Given the description of an element on the screen output the (x, y) to click on. 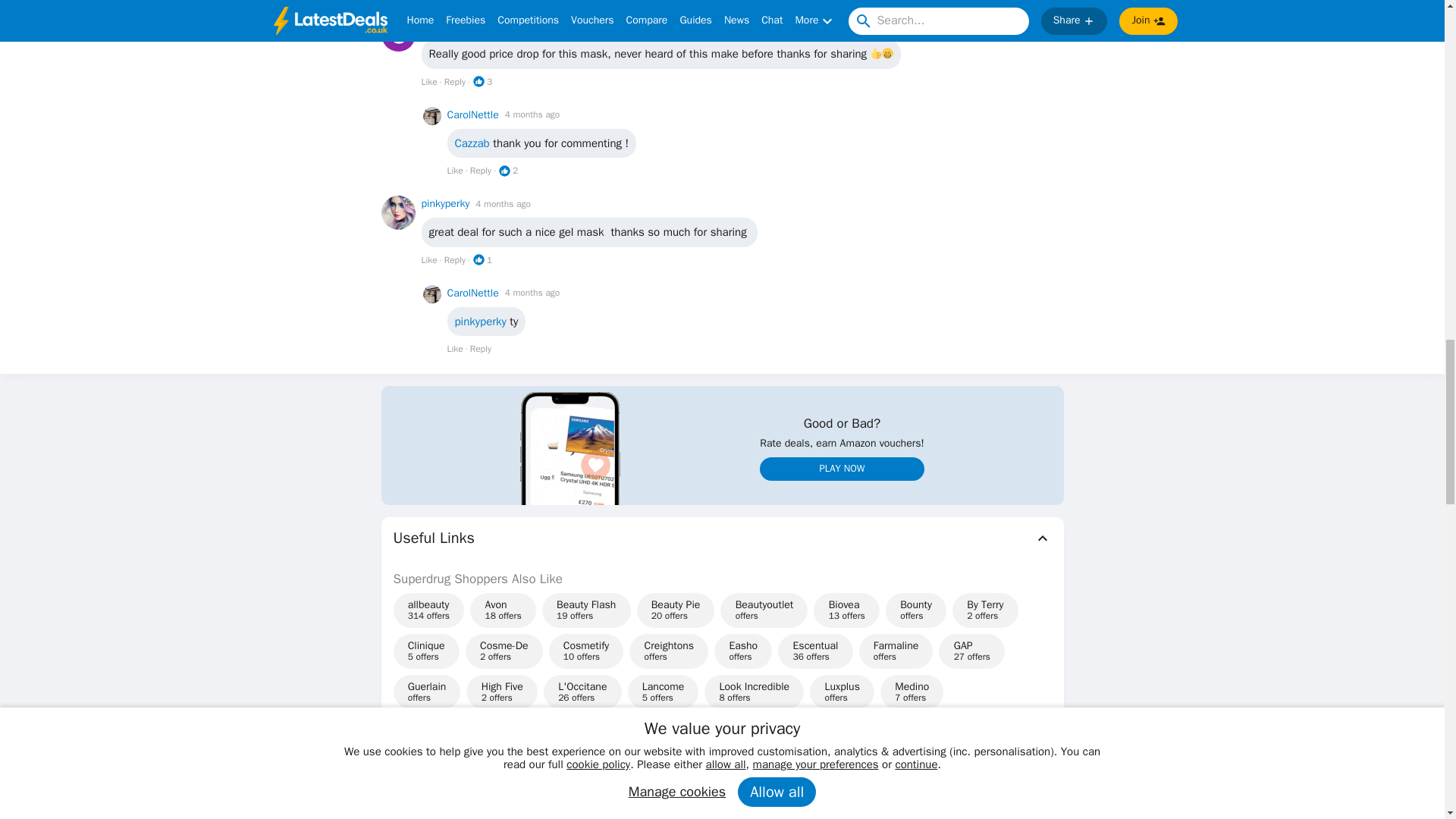
CarolNettle (472, 293)
Cazzab (438, 25)
CarolNettle (472, 114)
pinkyperky (446, 203)
